Given the description of an element on the screen output the (x, y) to click on. 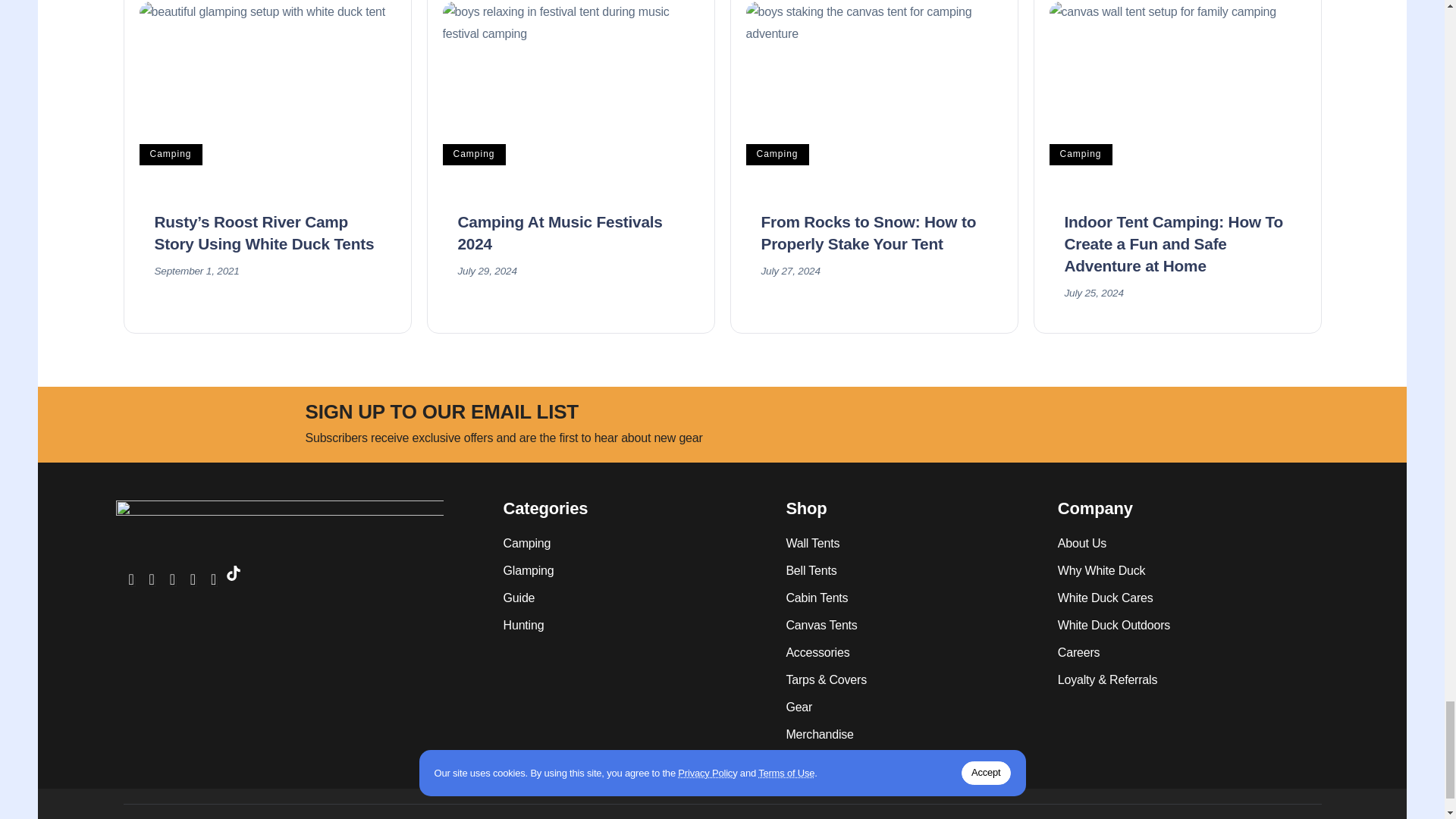
Camping At Music Festivals 2024 (570, 94)
From Rocks to Snow: How to Properly Stake Your Tent (874, 94)
Camping At Music Festivals 2024 (560, 232)
From Rocks to Snow: How to Properly Stake Your Tent (868, 232)
